Given the description of an element on the screen output the (x, y) to click on. 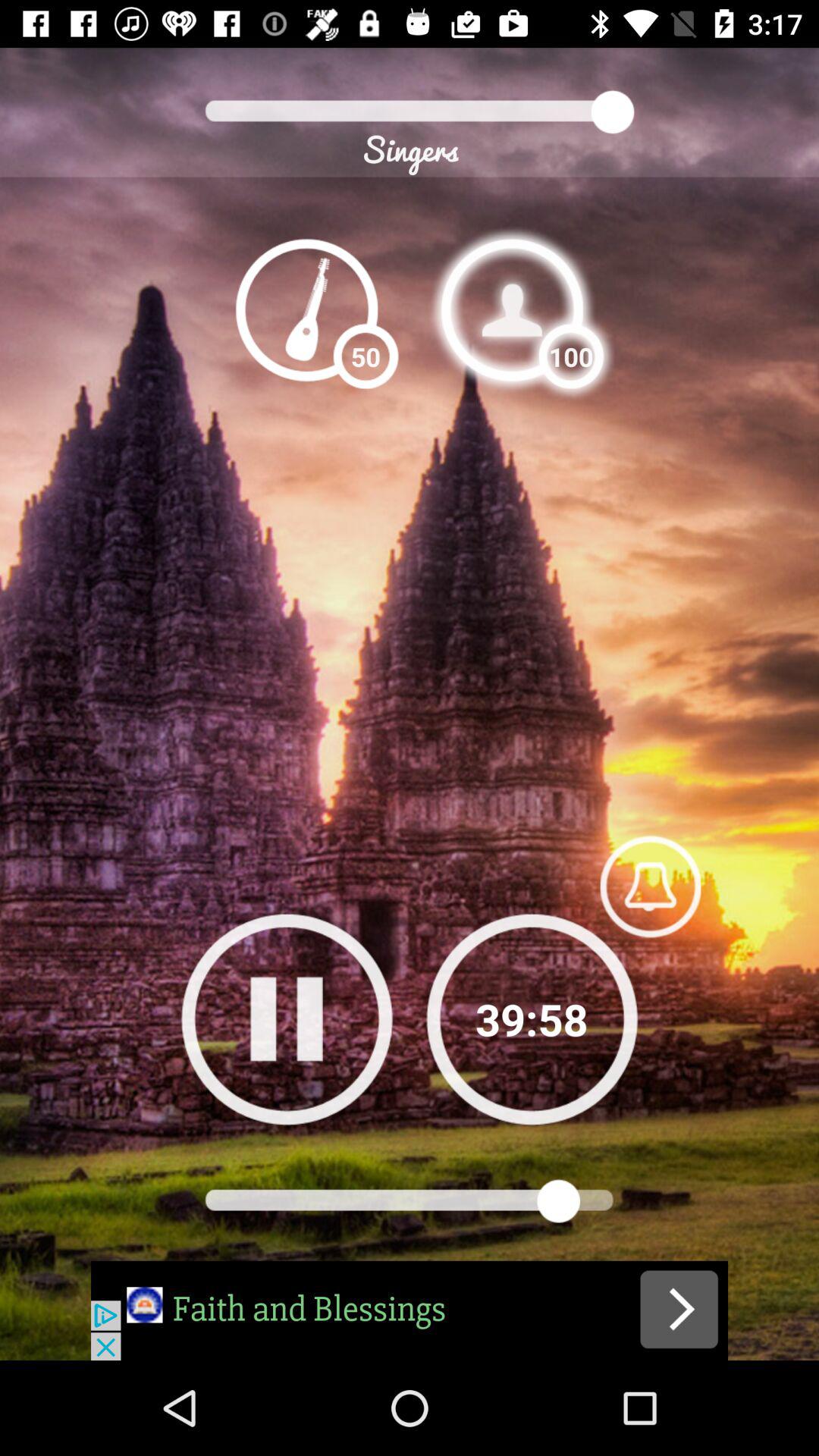
turn off icon above 39:57 item (649, 885)
